Given the description of an element on the screen output the (x, y) to click on. 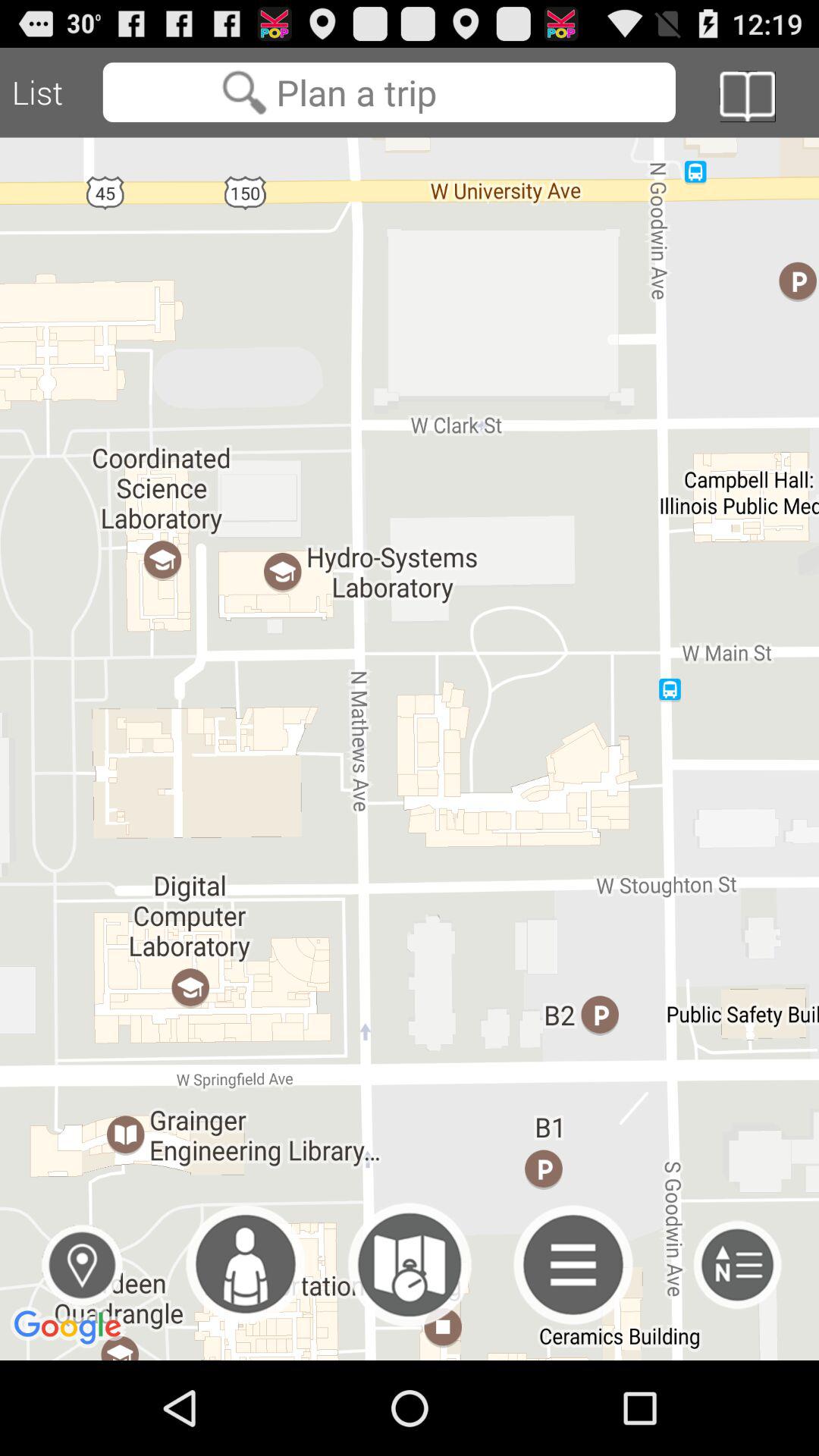
turn on the app below list icon (409, 748)
